Given the description of an element on the screen output the (x, y) to click on. 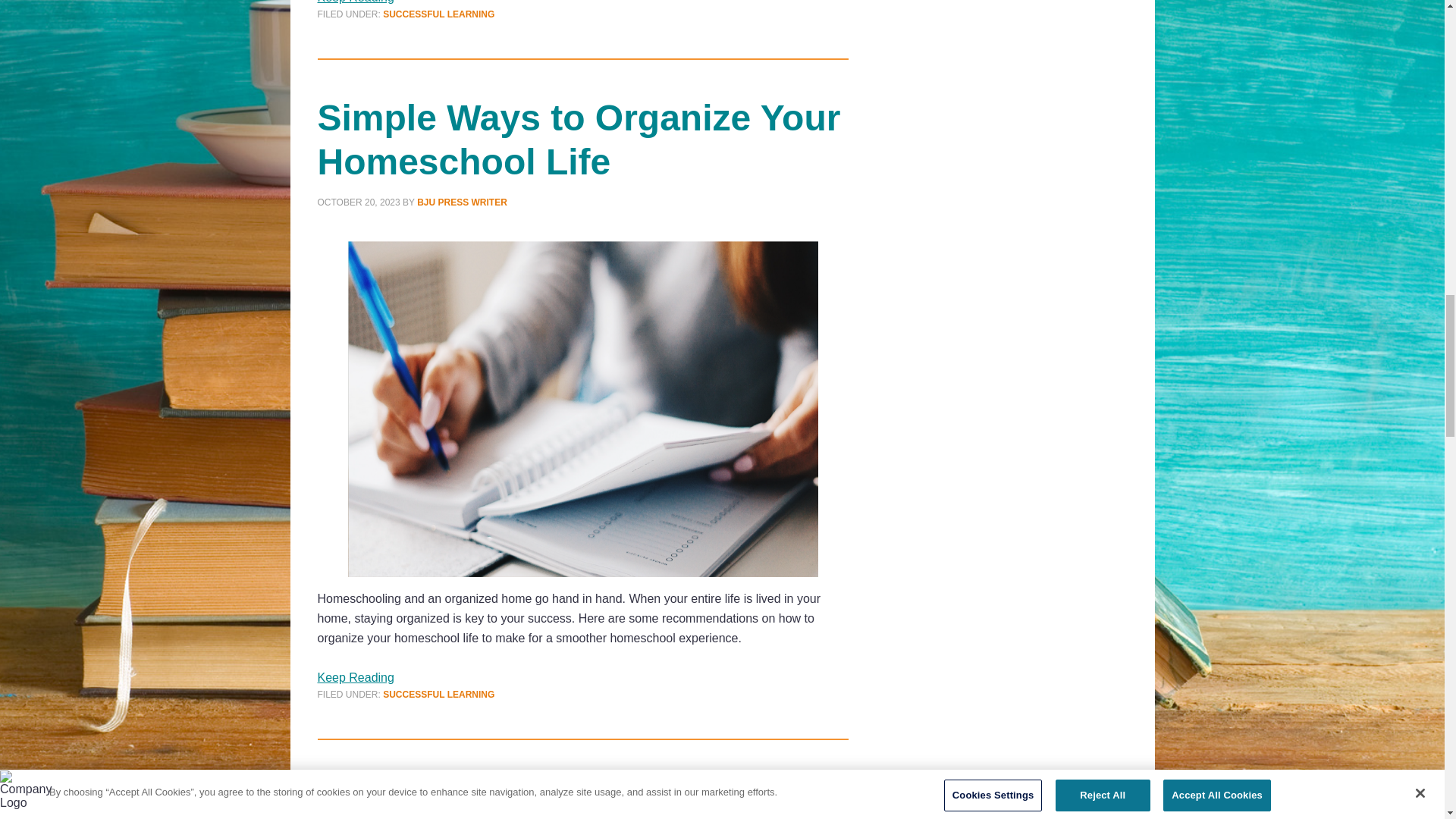
Keep Reading (355, 676)
SUCCESSFUL LEARNING (438, 14)
SUCCESSFUL LEARNING (438, 694)
Keep Reading (355, 2)
BJU PRESS WRITER (461, 202)
